Given the description of an element on the screen output the (x, y) to click on. 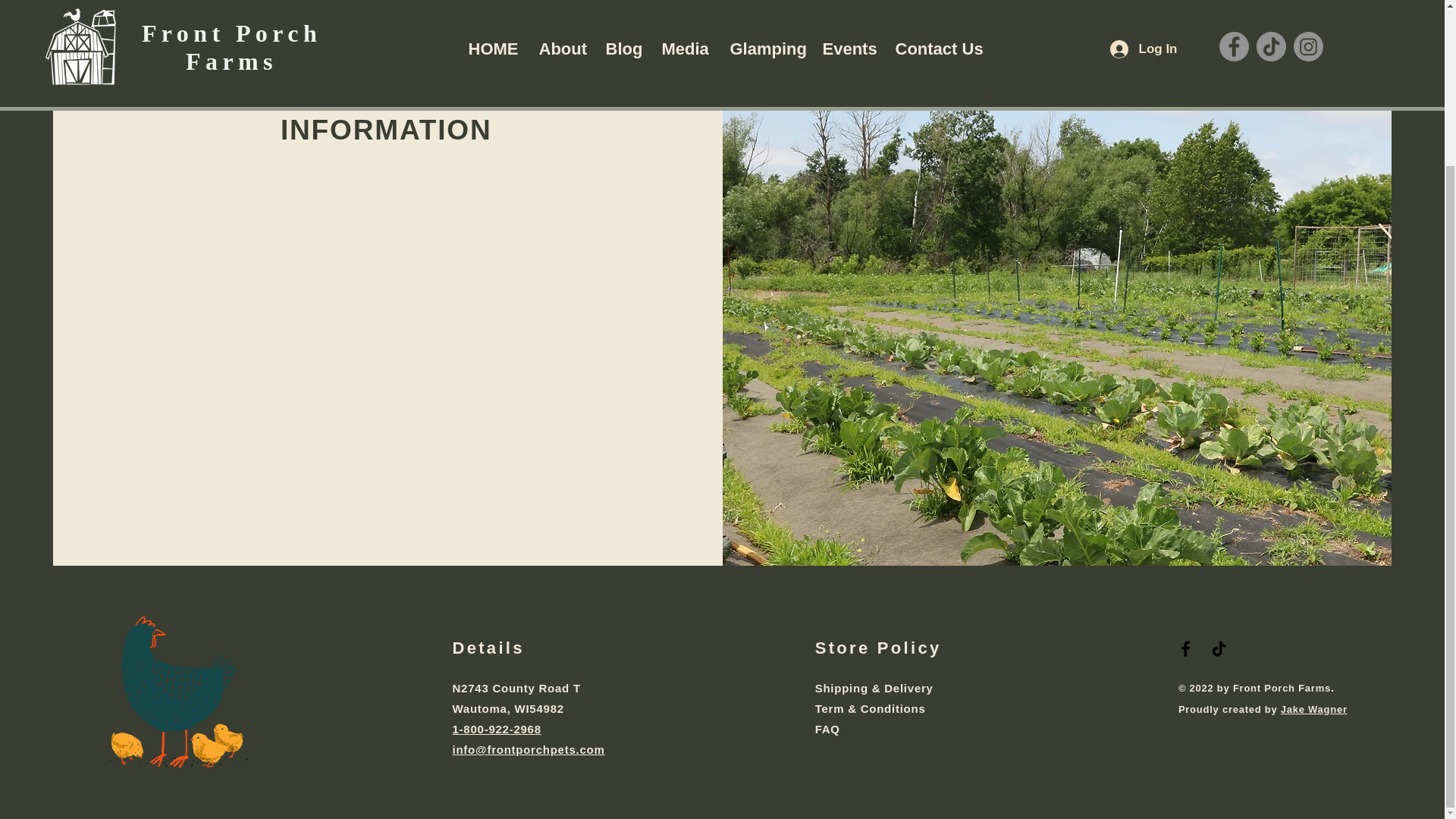
Jake Wagner (1314, 708)
FAQ (870, 738)
